Given the description of an element on the screen output the (x, y) to click on. 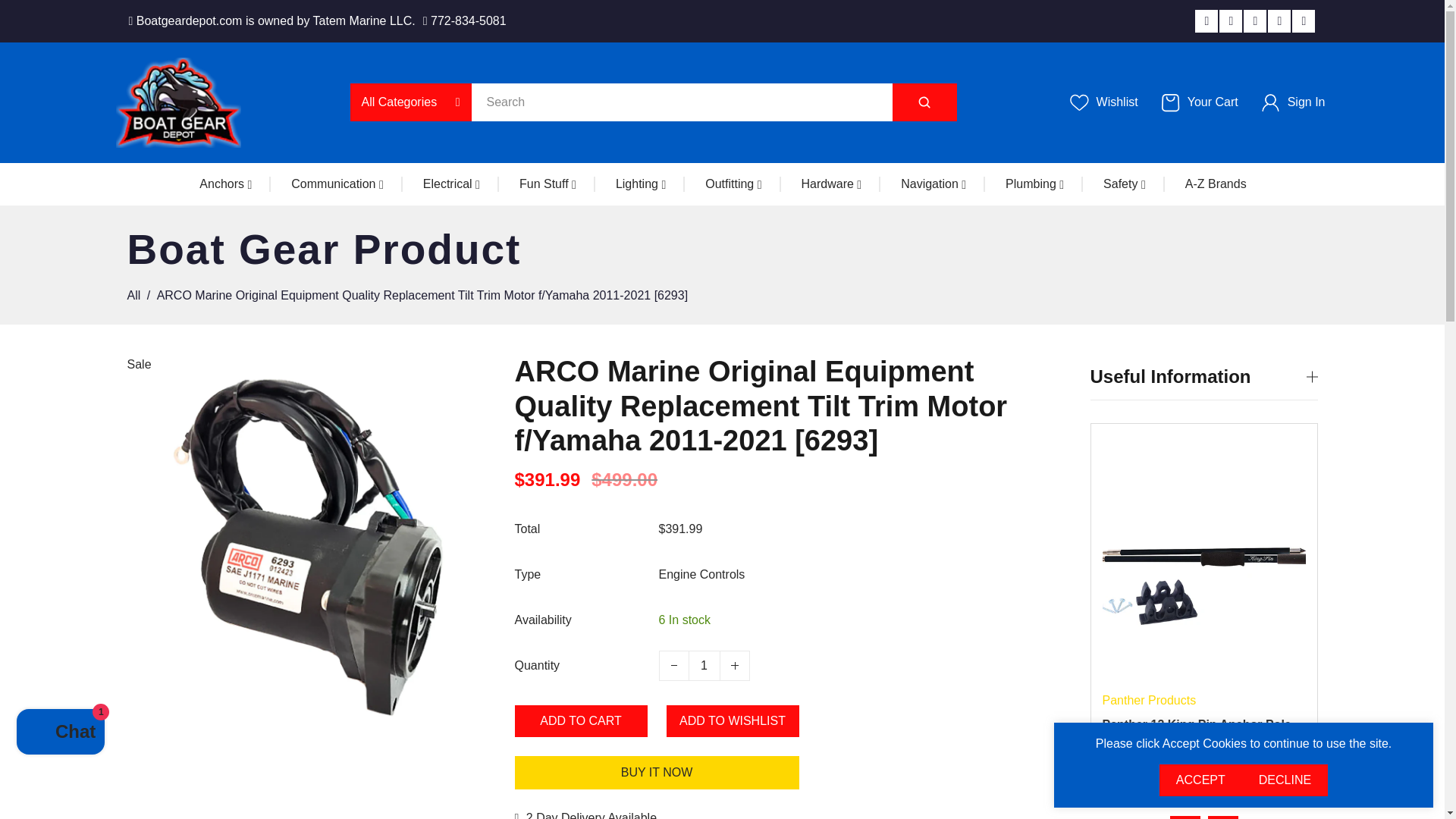
Sign In (1293, 101)
1 (703, 665)
Tatem Marine LLC. dba Boatgeardepot.com (177, 101)
Your Cart (1199, 101)
Shopify online store chat (60, 733)
Wishlist (1103, 101)
Pinterest (1254, 20)
RSS (1303, 20)
772-834-5081 (464, 20)
Facebook (1230, 20)
Boatgeardepot.com is owned by Tatem Marine LLC. (271, 20)
Instagram (1279, 20)
Twitter (1206, 20)
Sign In (1248, 250)
